Given the description of an element on the screen output the (x, y) to click on. 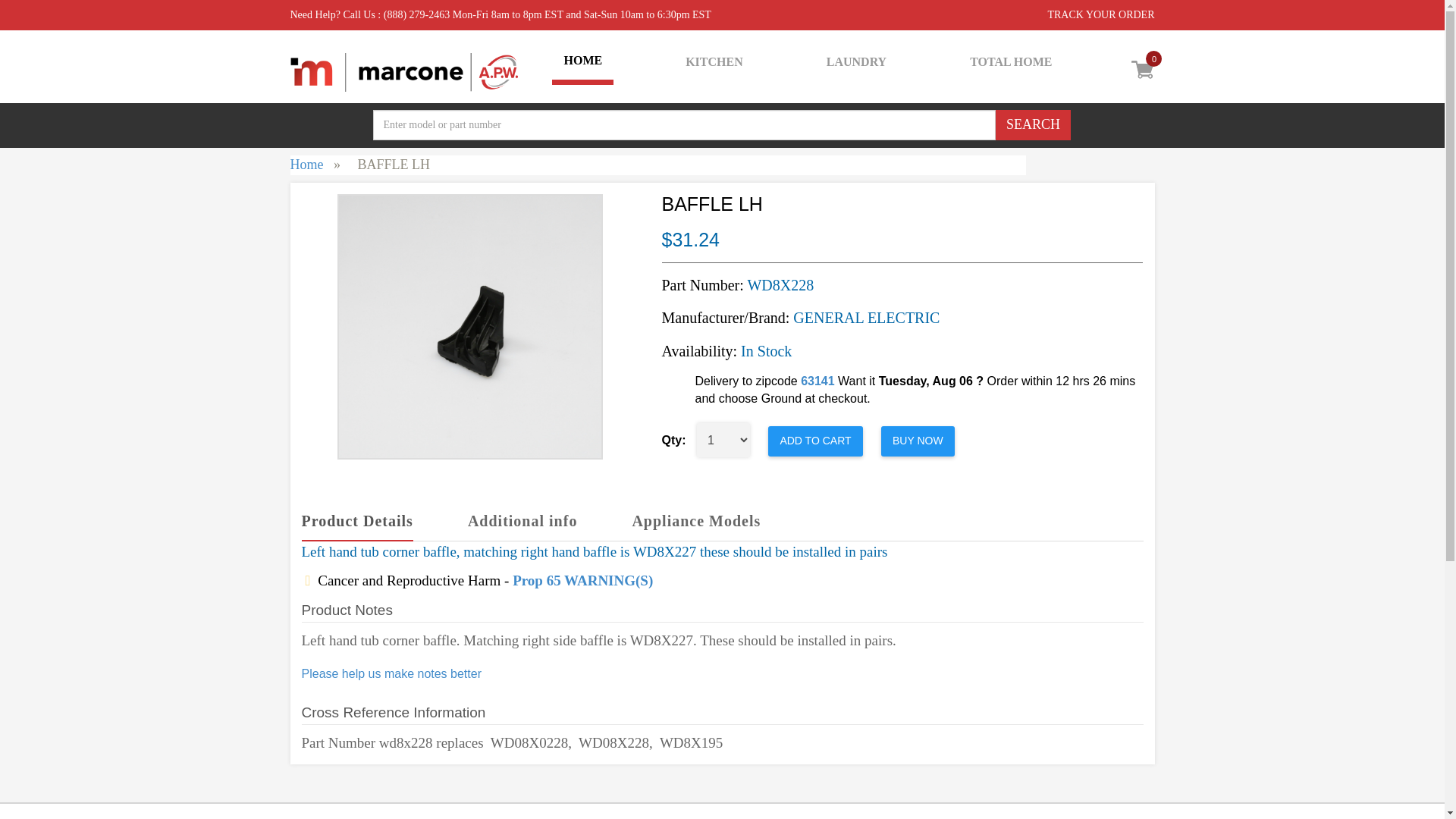
Search (1032, 124)
63141 (817, 380)
HOME (581, 63)
Product Details (357, 521)
Appliance Models (695, 521)
Go to Home Page (306, 164)
KITCHEN (714, 61)
Search (1032, 124)
Home (306, 164)
Track Order (1100, 14)
Search (1032, 124)
0 (1118, 75)
Please help us make notes better (391, 673)
BUY NOW (917, 440)
LAUNDRY (856, 61)
